Given the description of an element on the screen output the (x, y) to click on. 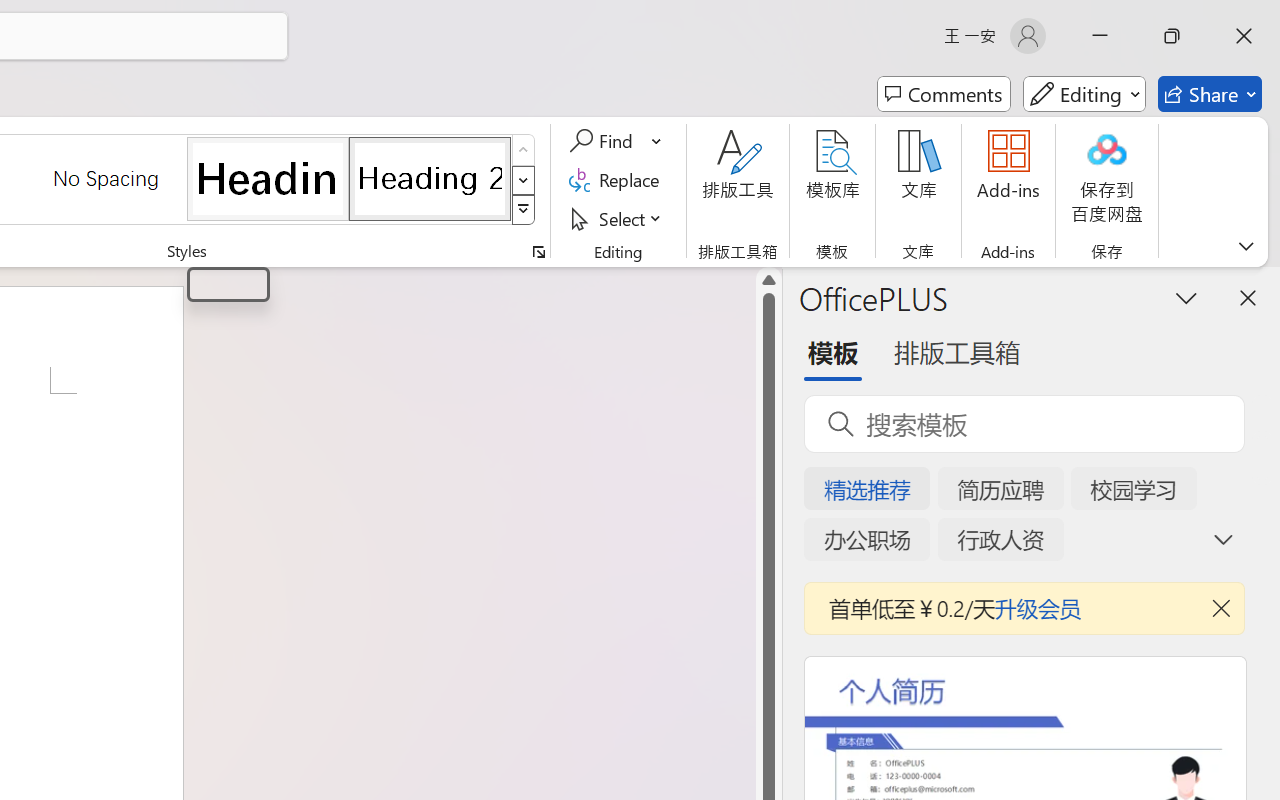
Mode (1083, 94)
Find (616, 141)
Styles... (538, 252)
Heading 2 (429, 178)
Heading 1 (228, 284)
